Given the description of an element on the screen output the (x, y) to click on. 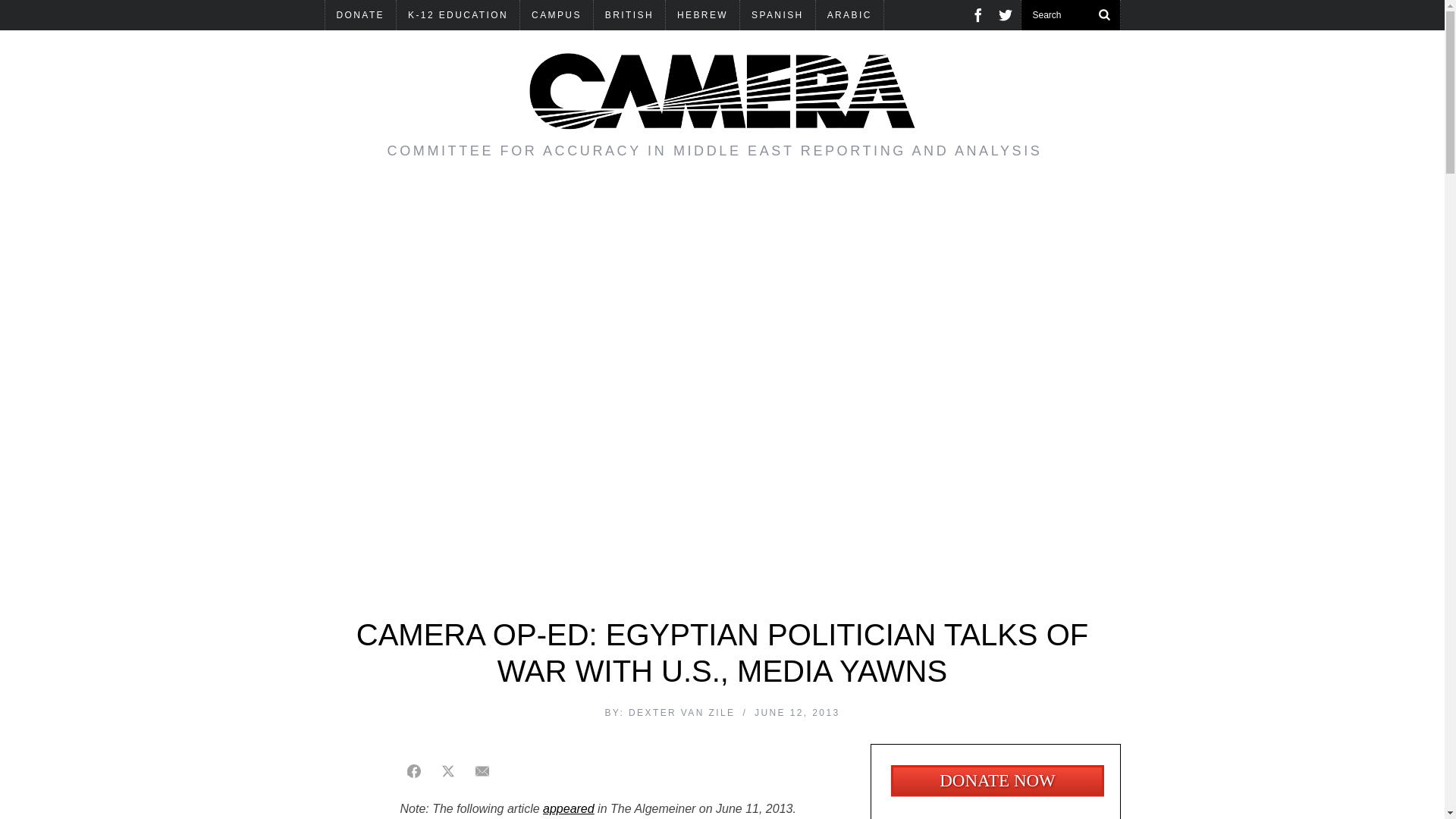
K-12 EDUCATION (457, 14)
Search (1070, 15)
Share on Facebook (414, 770)
HEBREW (702, 14)
Share on E-mail (482, 770)
BRITISH (629, 14)
ARABIC (849, 14)
SPANISH (777, 14)
CAMPUS (555, 14)
Share on Twitter (447, 770)
